Given the description of an element on the screen output the (x, y) to click on. 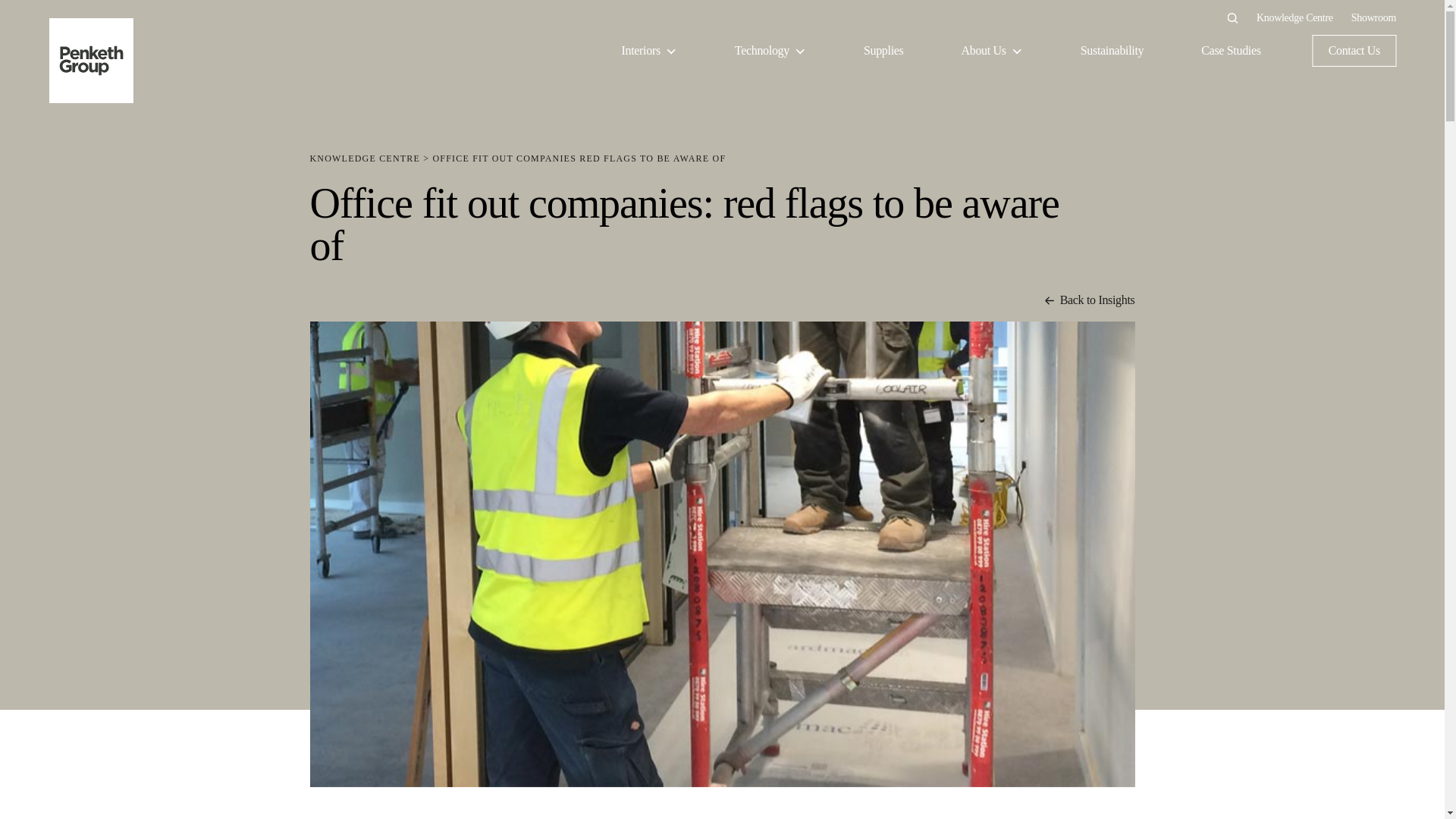
Knowledge Centre (1294, 17)
Supplies (883, 50)
Sustainability (1112, 50)
Case Studies (1230, 50)
Showroom (1373, 17)
Contact Us (1353, 50)
